Given the description of an element on the screen output the (x, y) to click on. 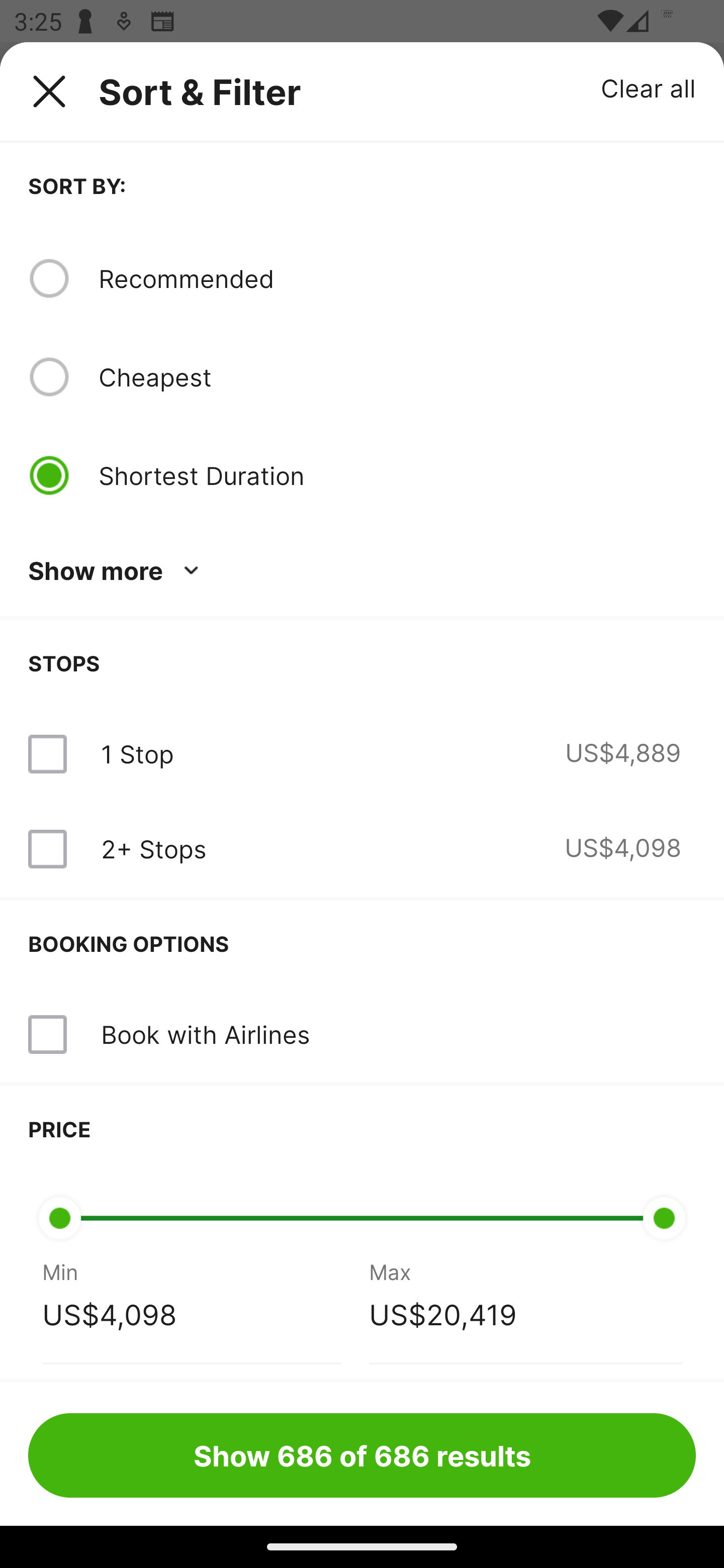
Clear all (648, 87)
Recommended  (396, 278)
Cheapest (396, 377)
Shortest Duration (396, 474)
Show more (116, 570)
1 Stop US$4,889 (362, 754)
1 Stop (136, 753)
2+ Stops US$4,098 (362, 848)
2+ Stops (153, 849)
Book with Airlines (362, 1033)
Book with Airlines (204, 1034)
Show 686 of 686 results (361, 1454)
